Given the description of an element on the screen output the (x, y) to click on. 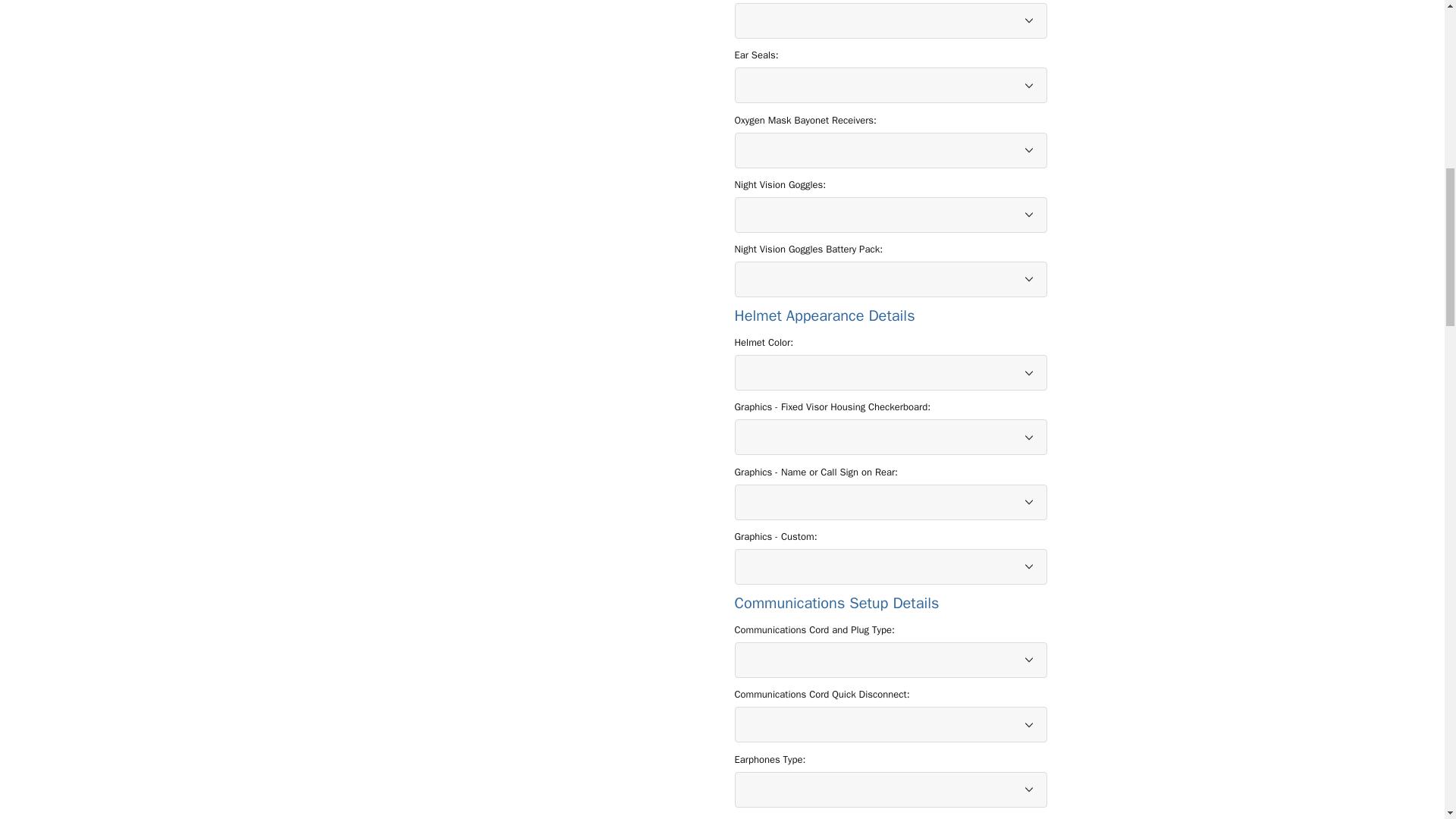
Helmet Color: (763, 342)
Oxygen Mask Bayonet Receivers: (804, 120)
Night Vision Goggles: (779, 184)
Ear Seals: (755, 55)
Night Vision Goggles Battery Pack: (807, 249)
Graphics - Custom: (774, 536)
Graphics - Name or Call Sign on Rear: (815, 472)
Helmet Appearance Details: (889, 315)
Graphics - Fixed Visor Housing Checkerboard: (831, 406)
